Given the description of an element on the screen output the (x, y) to click on. 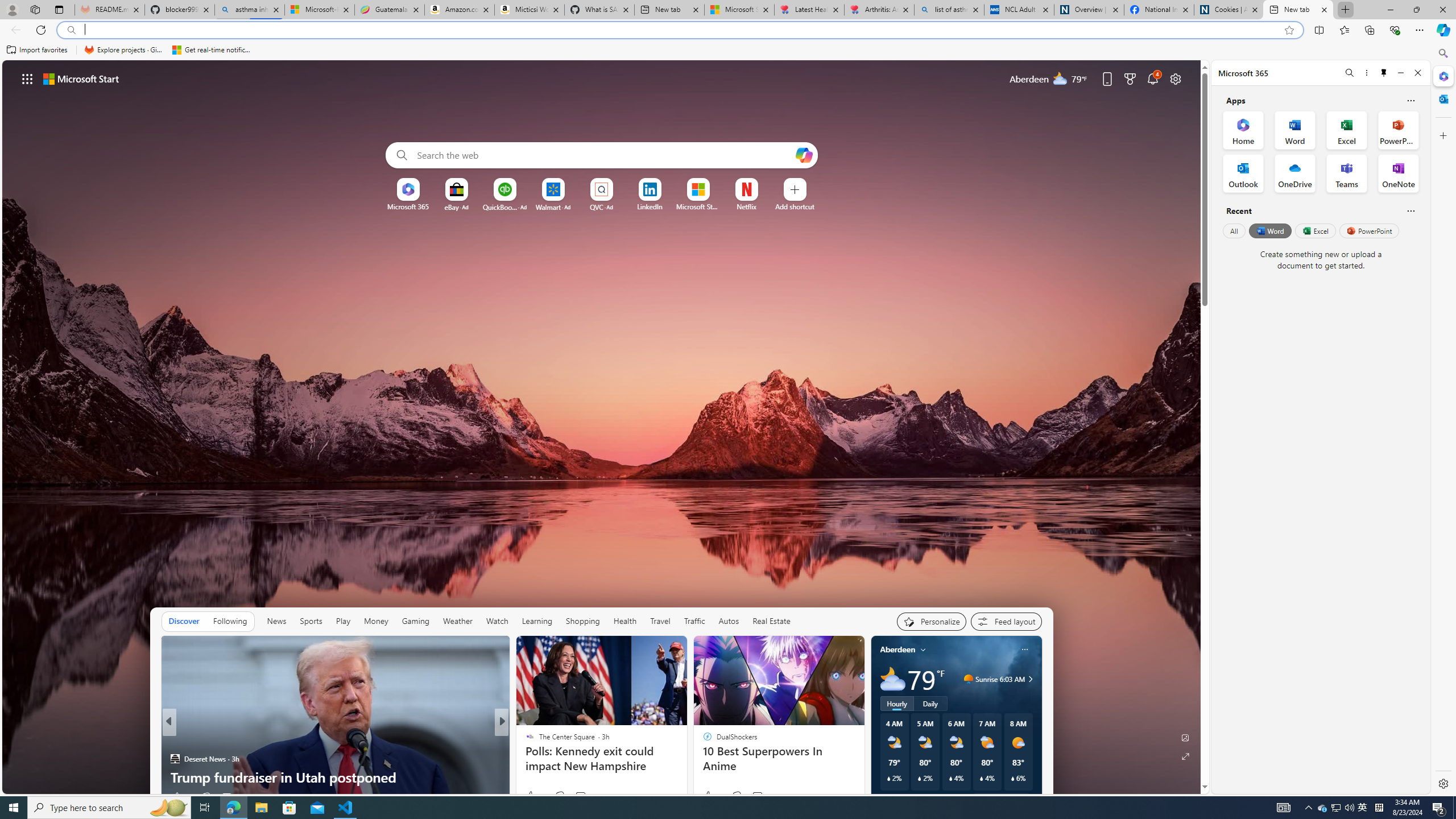
People (524, 740)
OneDrive Office App (1295, 172)
AutomationID: backgroundImagePicture (601, 426)
Word Office App (1295, 129)
View comments 26 Comment (229, 797)
View comments 25 Comment (581, 796)
14 Things To Avoid Ordering At Wendy's And Why (684, 777)
